Given the description of an element on the screen output the (x, y) to click on. 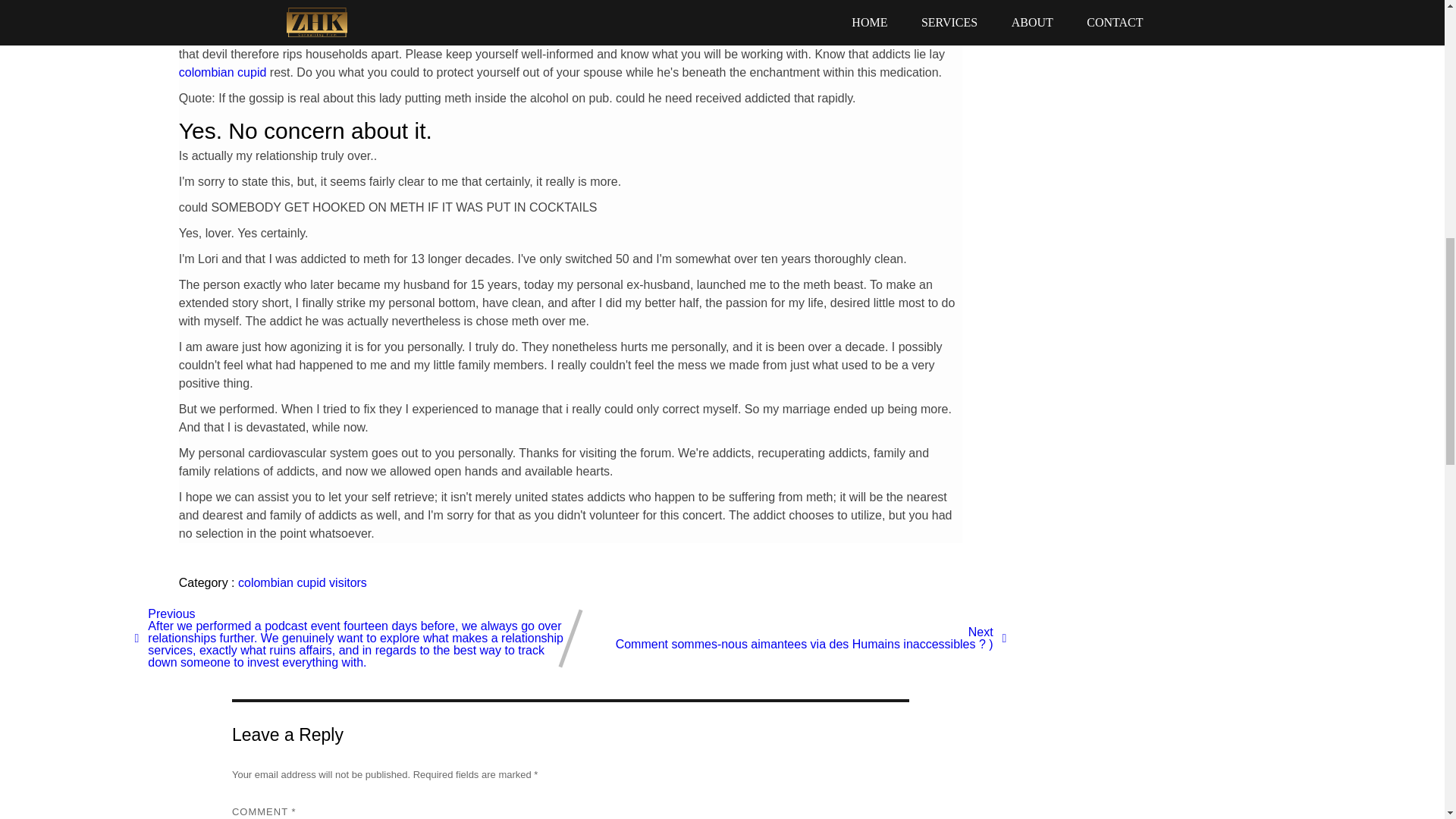
colombian cupid (222, 72)
colombian cupid visitors (302, 582)
